Given the description of an element on the screen output the (x, y) to click on. 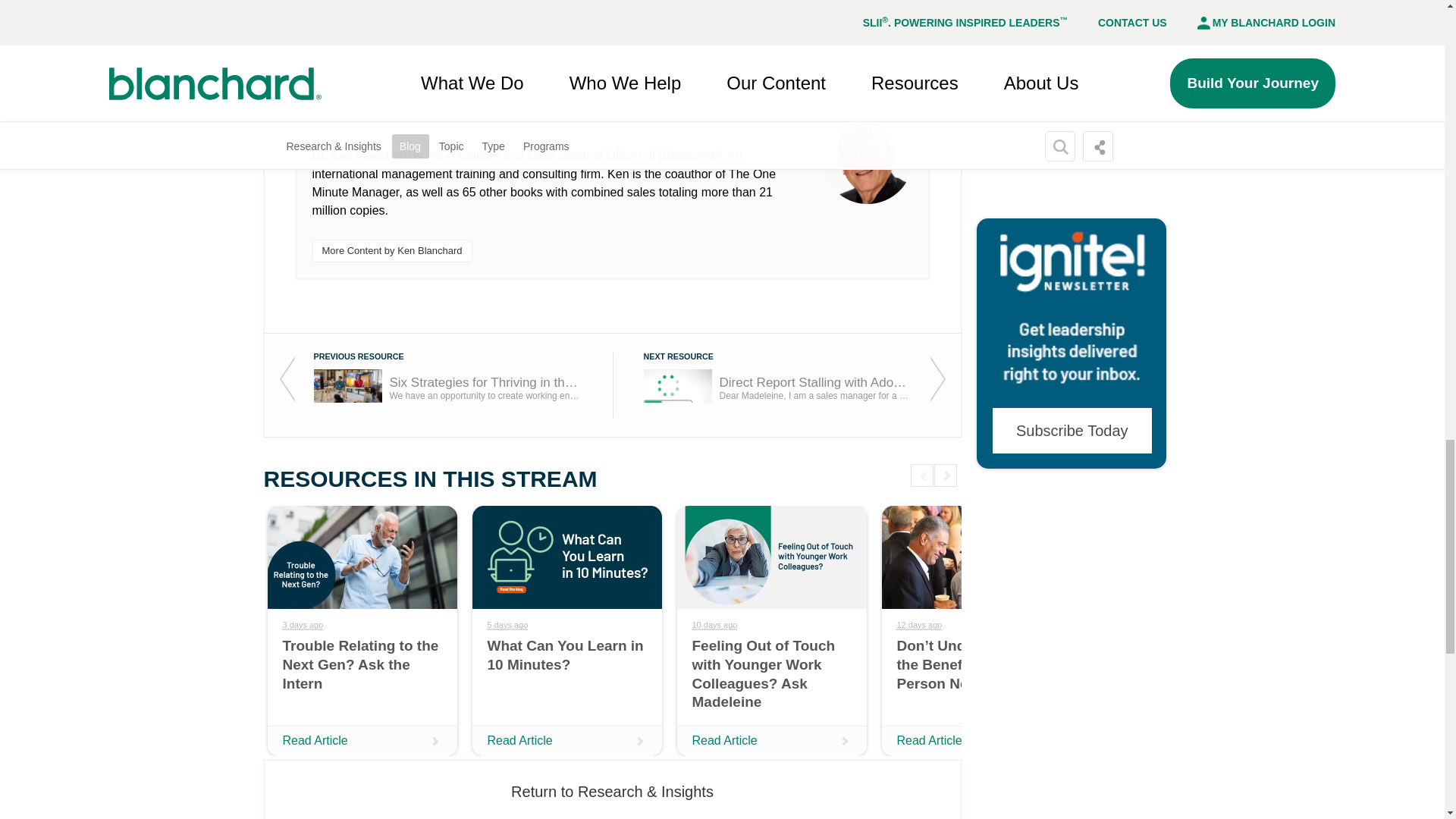
2024-08-07T22:10:57 (506, 624)
2024-08-03T09:09:37 (713, 624)
2024-08-10T09:08:39 (302, 624)
2024-07-31T17:08:26 (919, 624)
